Given the description of an element on the screen output the (x, y) to click on. 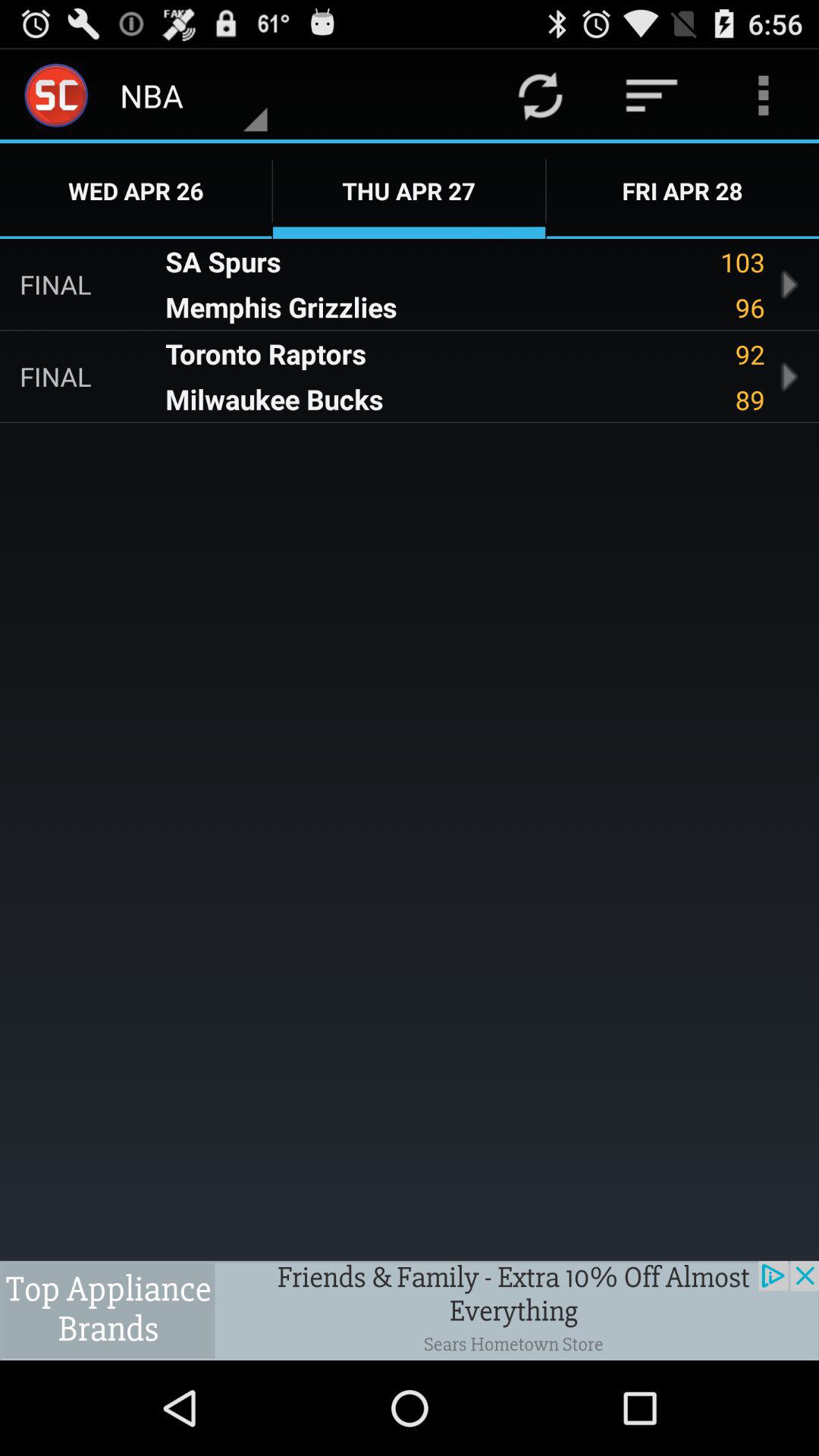
view advertisement (409, 1310)
